Given the description of an element on the screen output the (x, y) to click on. 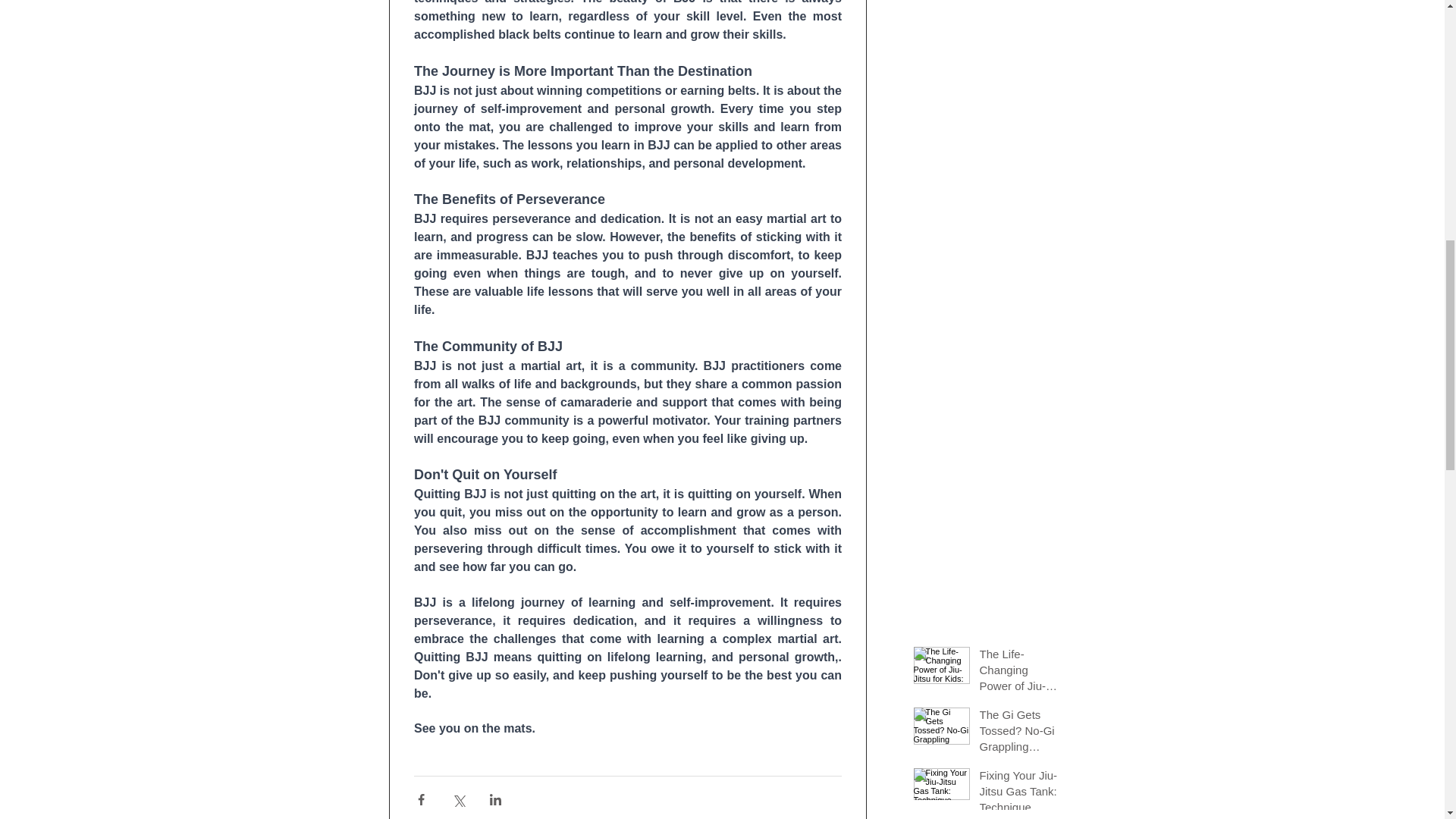
The Gi Gets Tossed? No-Gi Grappling Takes BJJ by Storm (1020, 733)
